Given the description of an element on the screen output the (x, y) to click on. 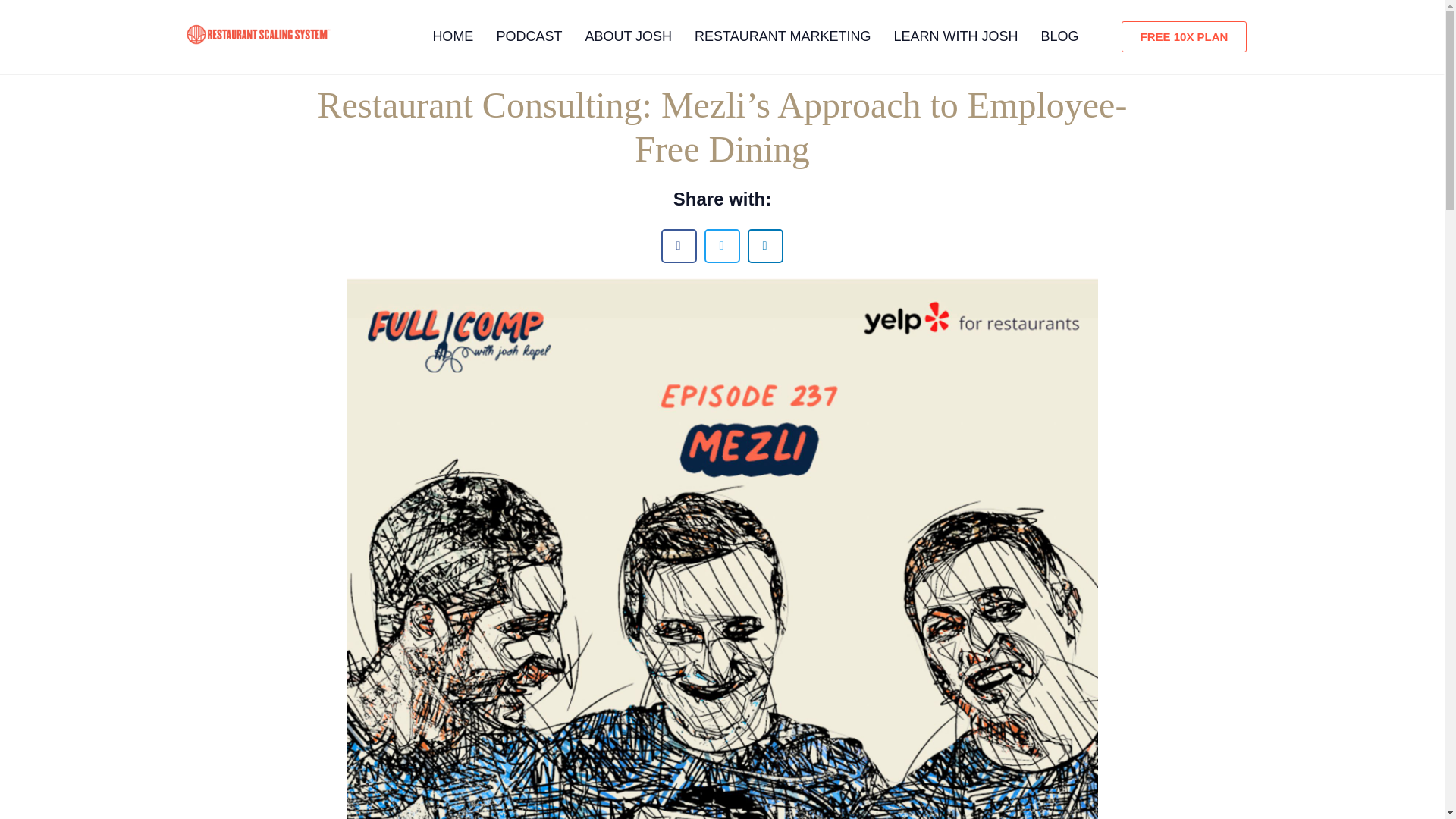
BLOG (1059, 36)
FREE 10X PLAN (1184, 36)
RESTAURANT MARKETING (782, 36)
HOME (452, 36)
PODCAST (528, 36)
LEARN WITH JOSH (955, 36)
ABOUT JOSH (627, 36)
